Given the description of an element on the screen output the (x, y) to click on. 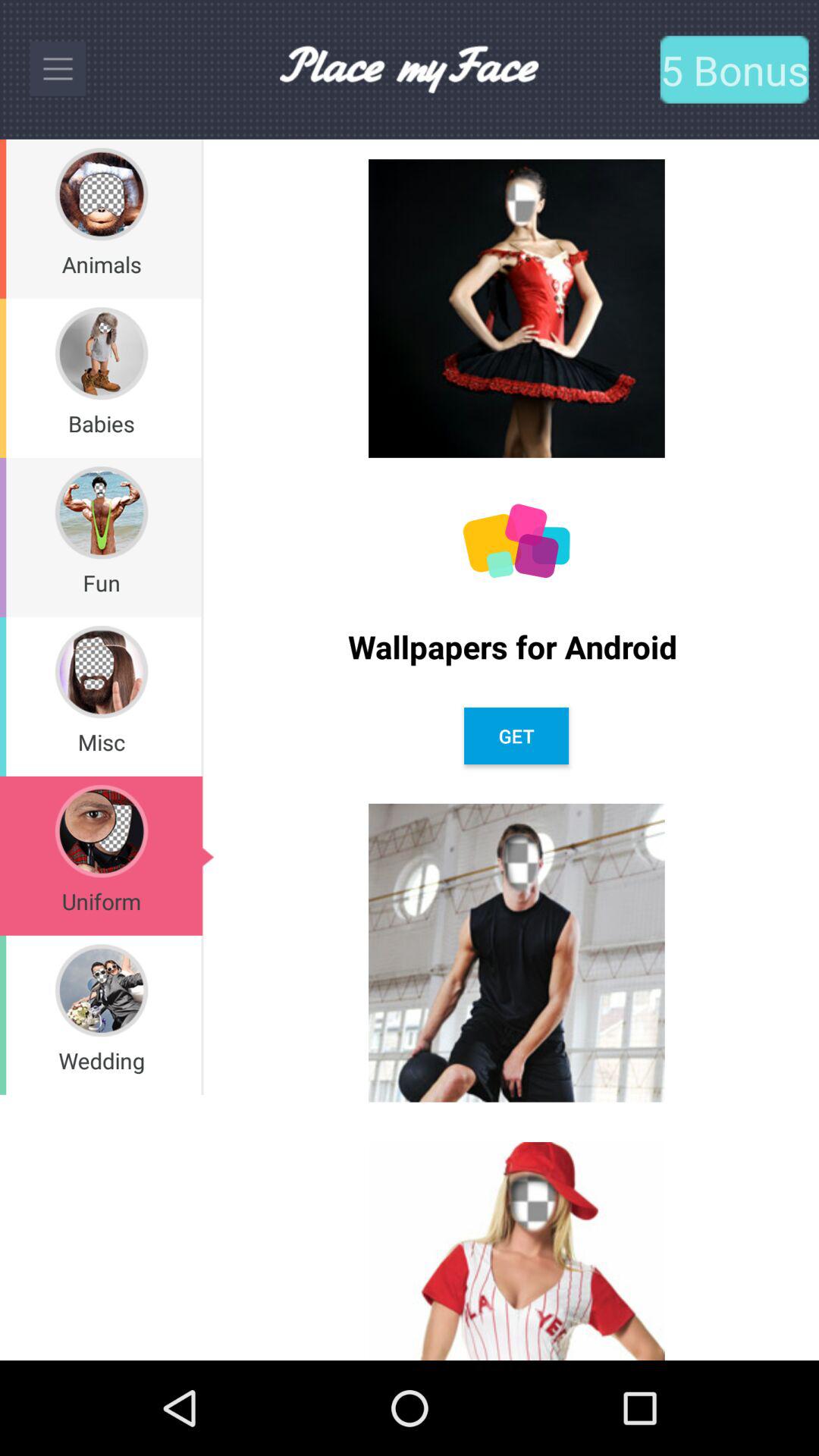
select background color (516, 541)
